Given the description of an element on the screen output the (x, y) to click on. 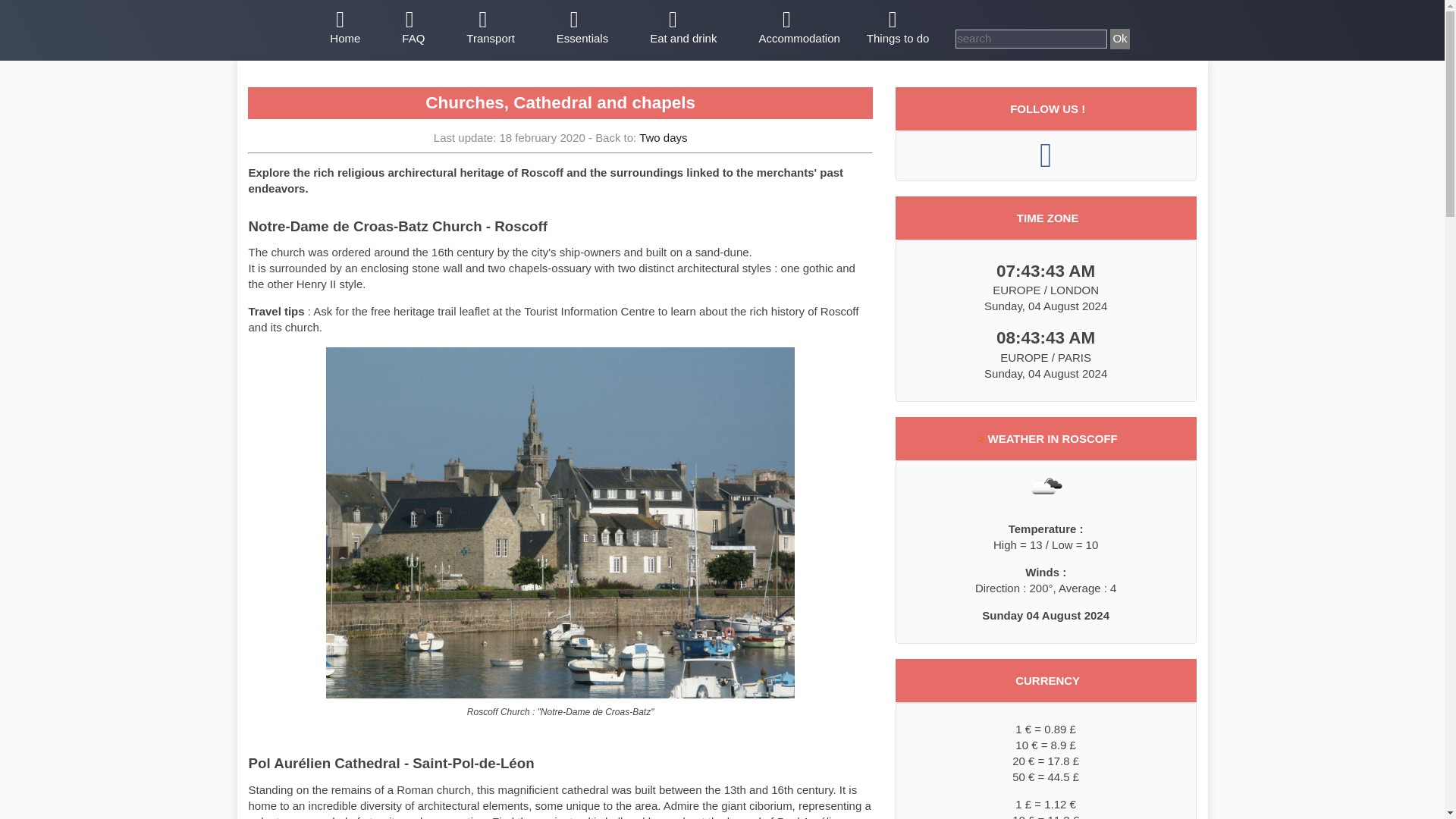
Home (344, 29)
Essentials (582, 29)
Accommodation (798, 29)
Ok (1119, 38)
Transport (490, 29)
Eat and drink (683, 29)
FAQ (413, 29)
Ok (1119, 38)
Two days (663, 137)
Home (344, 29)
